Given the description of an element on the screen output the (x, y) to click on. 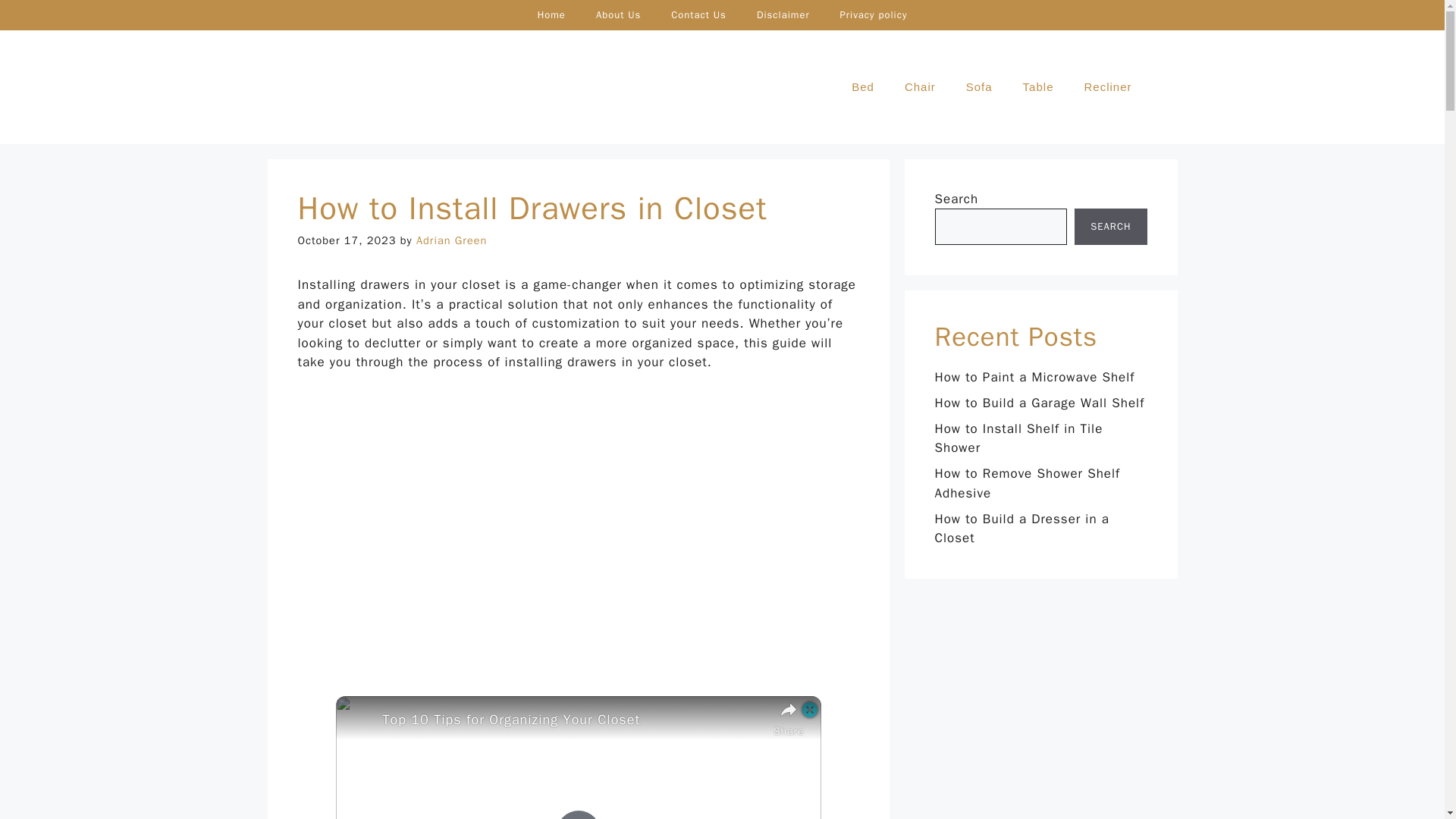
Play Video (576, 814)
How to Paint a Microwave Shelf (1034, 376)
SEARCH (1110, 226)
View all posts by Adrian Green (451, 240)
Adrian Green (451, 240)
Disclaimer (783, 15)
Chair (919, 86)
Privacy policy (874, 15)
Contact Us (698, 15)
Top 10 Tips for Organizing Your Closet (573, 720)
